Given the description of an element on the screen output the (x, y) to click on. 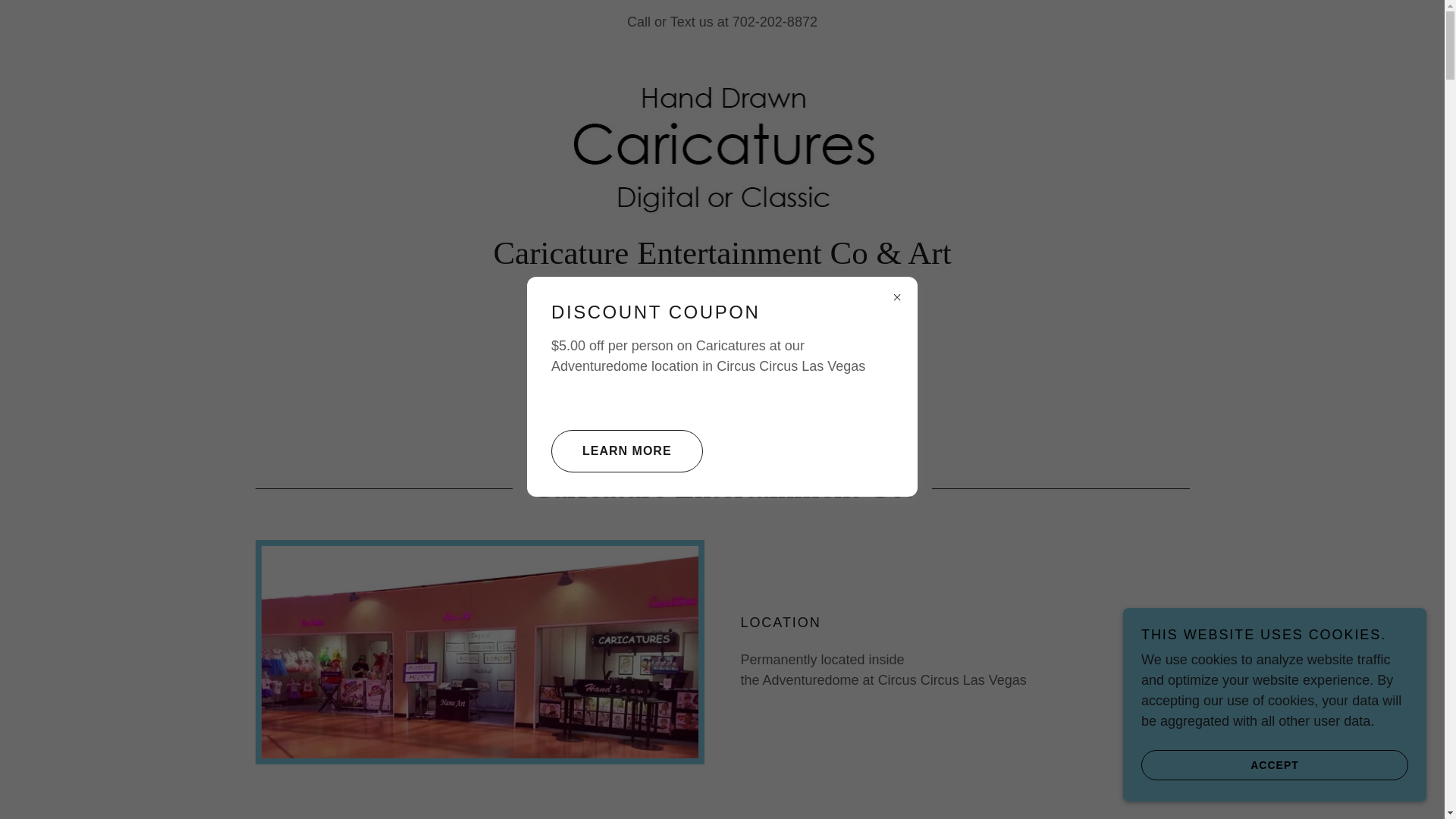
702-202-8872 (774, 21)
CONTACT US (721, 394)
